Given the description of an element on the screen output the (x, y) to click on. 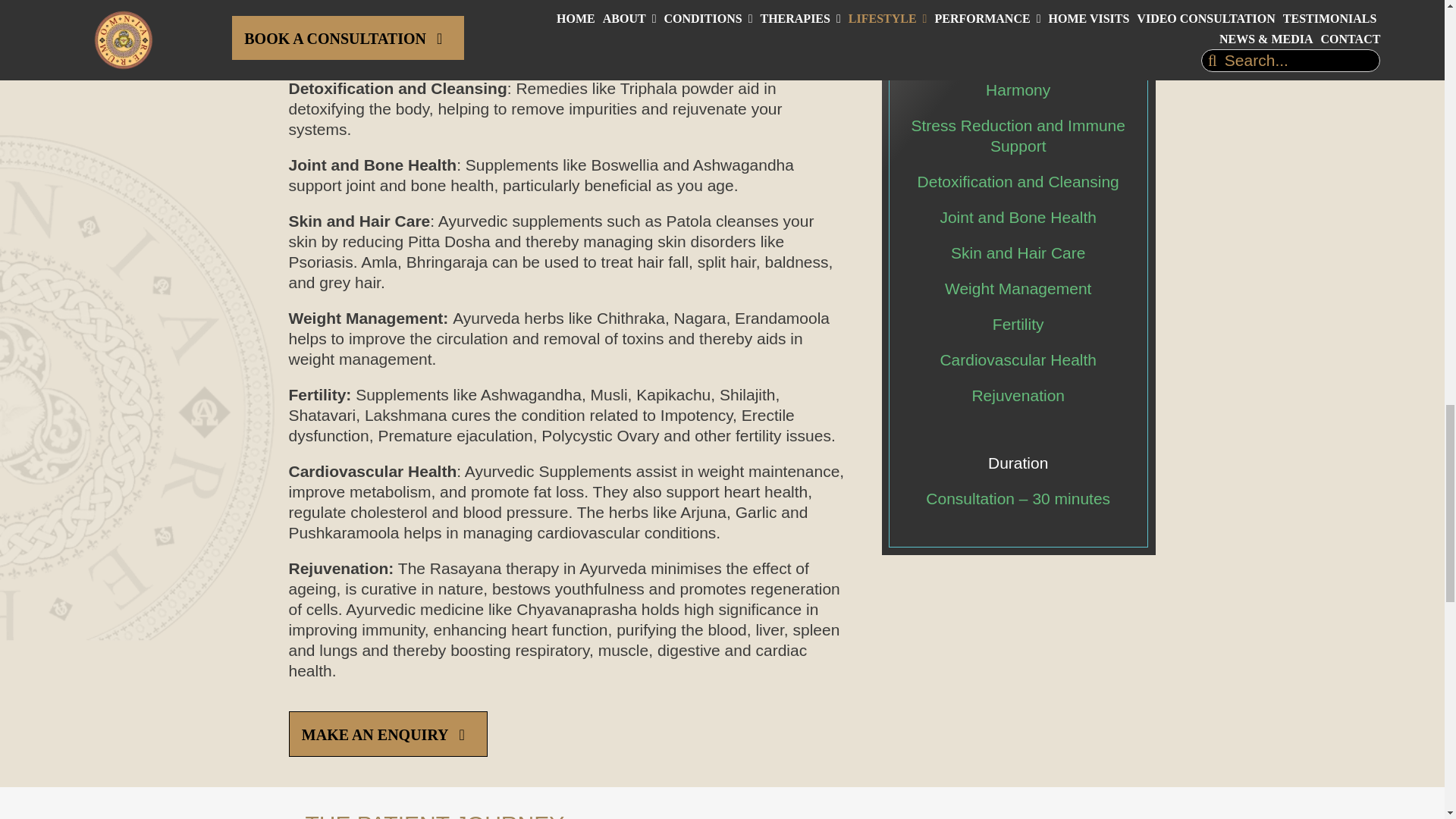
Omnia-lifestyle40b (1018, 3)
MAKE AN ENQUIRY (387, 733)
